Given the description of an element on the screen output the (x, y) to click on. 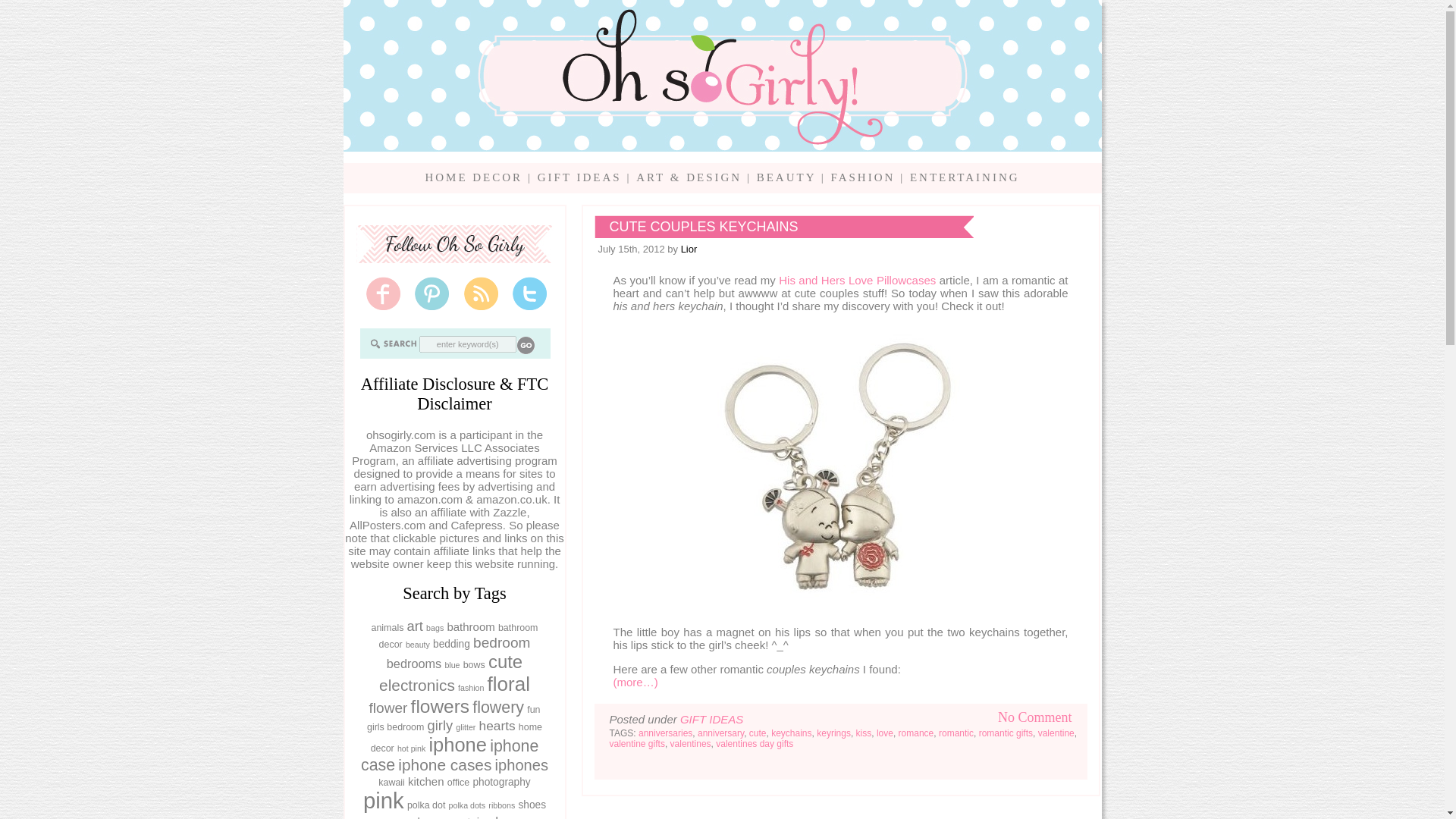
bedrooms (414, 663)
iphone case (449, 755)
fashion (470, 687)
girly (440, 725)
girls bedroom (394, 726)
bags (435, 627)
bathroom decor (458, 636)
blue (452, 664)
bows (473, 665)
bedroom (501, 642)
art (415, 625)
BEAUTY (786, 177)
iphone (457, 744)
iphone cases (444, 764)
iphones (521, 764)
